Given the description of an element on the screen output the (x, y) to click on. 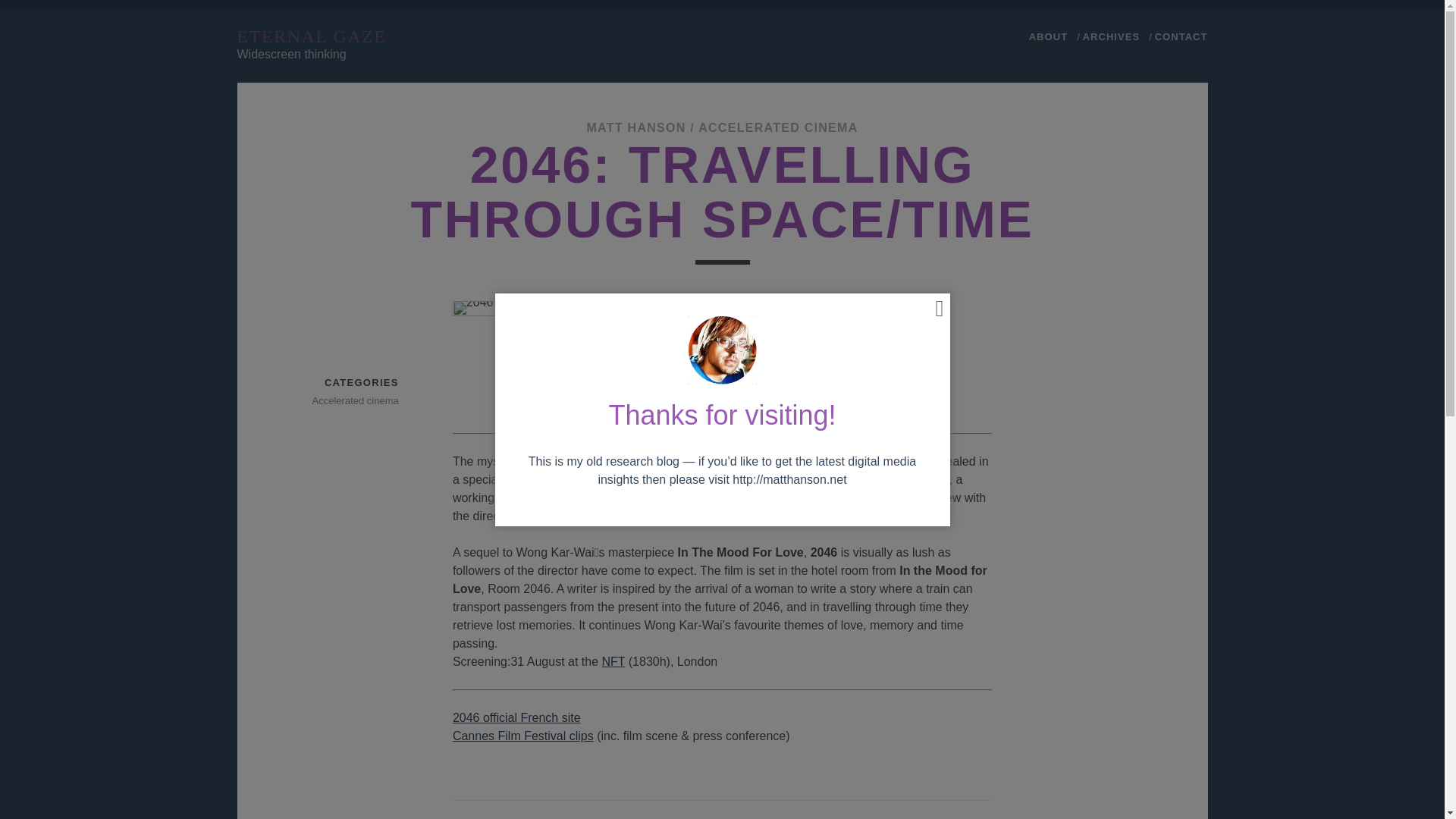
Eternal Gaze  (310, 35)
2046 wong kar-wai (649, 357)
MATT HANSON (635, 127)
Cannes Film Festival clips (523, 735)
Cannes Film Festival (523, 735)
NFT (614, 661)
ABOUT (1048, 36)
2046 wong kar-wai (517, 357)
ACCELERATED CINEMA (777, 127)
2046 official French site (516, 717)
Accelerated cinema (344, 401)
View all posts in Accelerated cinema (344, 401)
ARCHIVES (1111, 36)
CONTACT (1181, 36)
ETERNAL GAZE (310, 35)
